Given the description of an element on the screen output the (x, y) to click on. 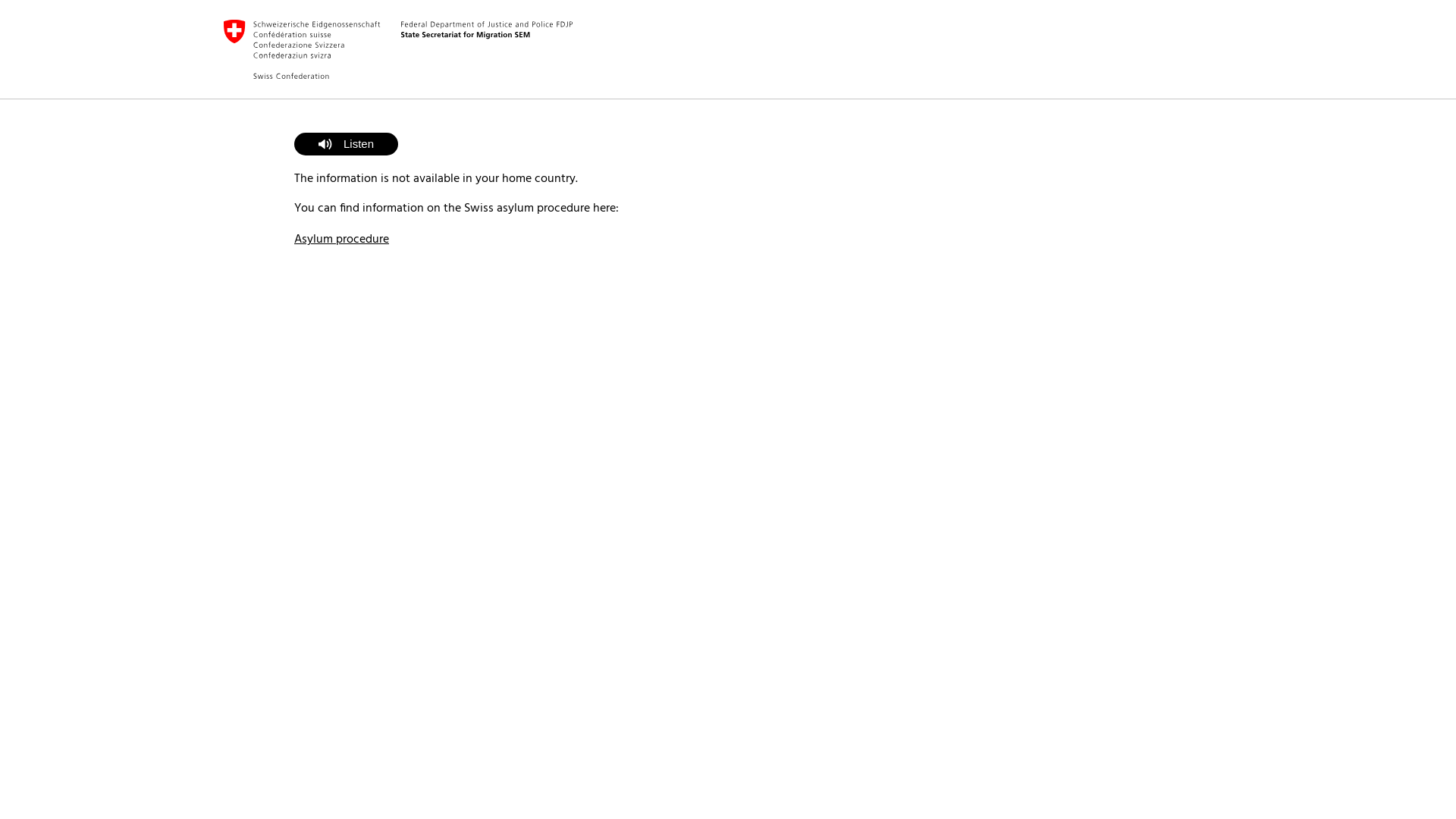
Asylum procedure Element type: text (341, 239)
Listen Element type: text (346, 143)
